Given the description of an element on the screen output the (x, y) to click on. 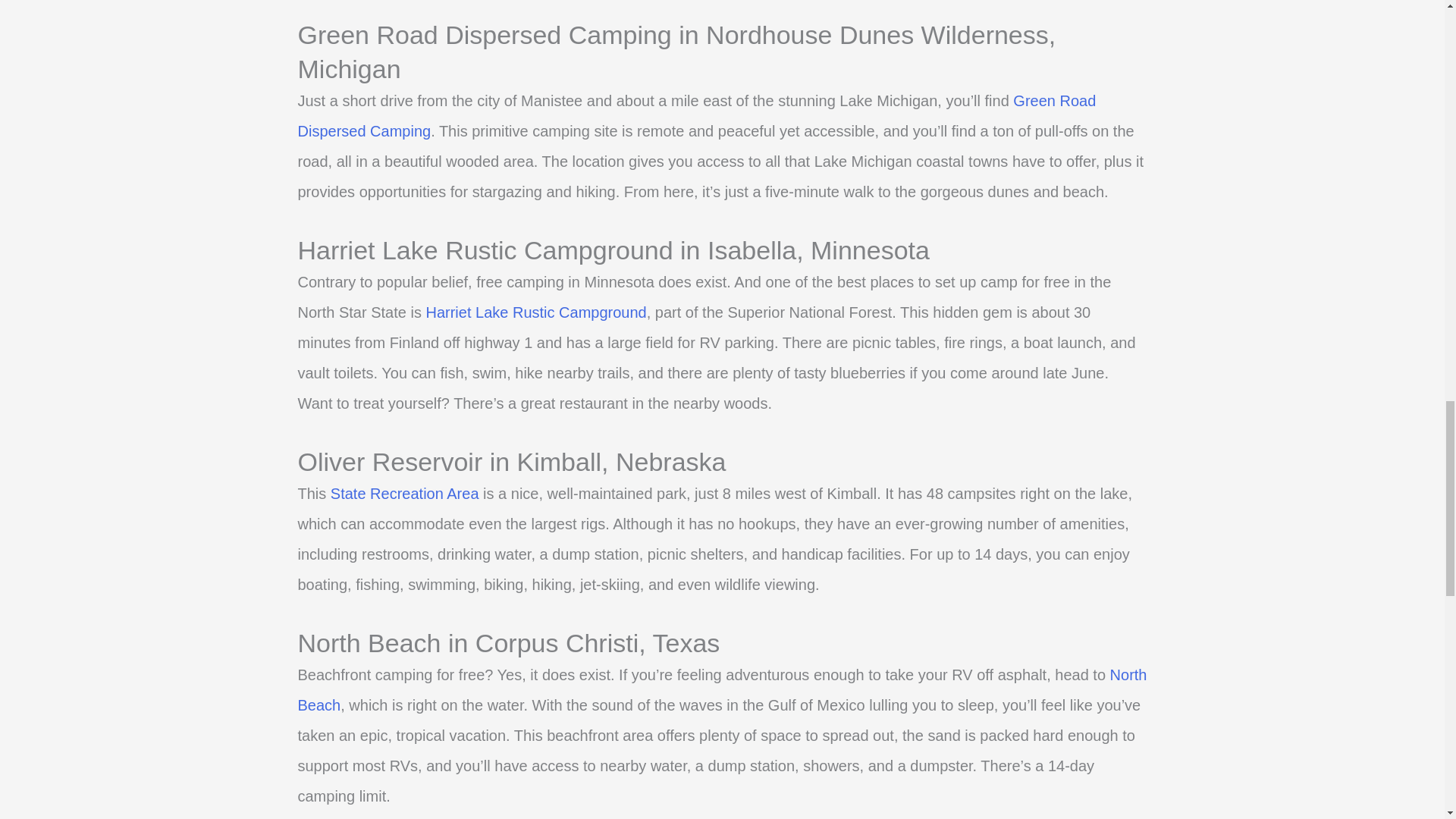
North Beach (722, 689)
Harriet Lake Rustic Campground (535, 312)
Green Road Dispersed Camping (696, 115)
State Recreation Area (404, 493)
